Given the description of an element on the screen output the (x, y) to click on. 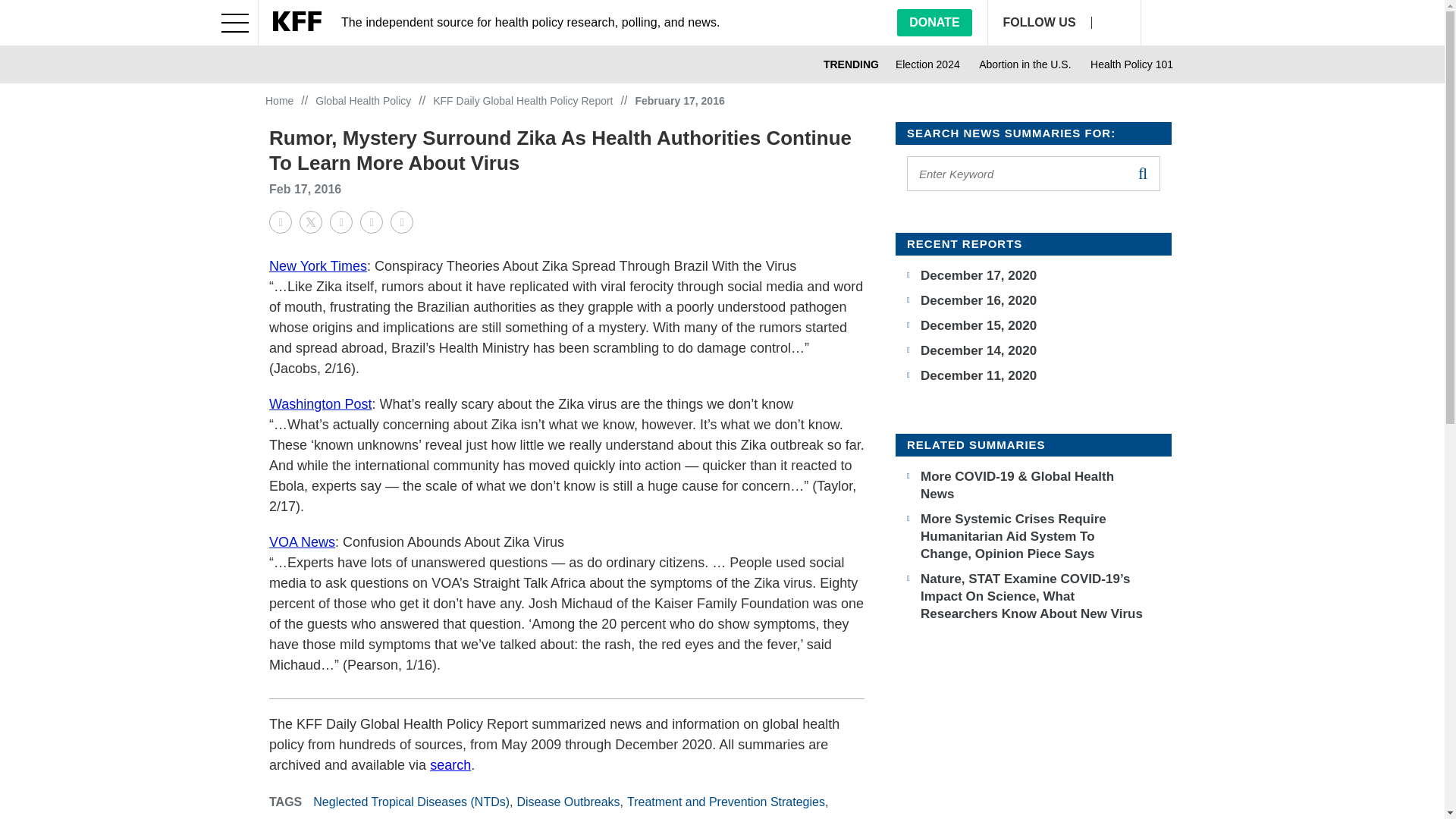
search (1141, 173)
